Given the description of an element on the screen output the (x, y) to click on. 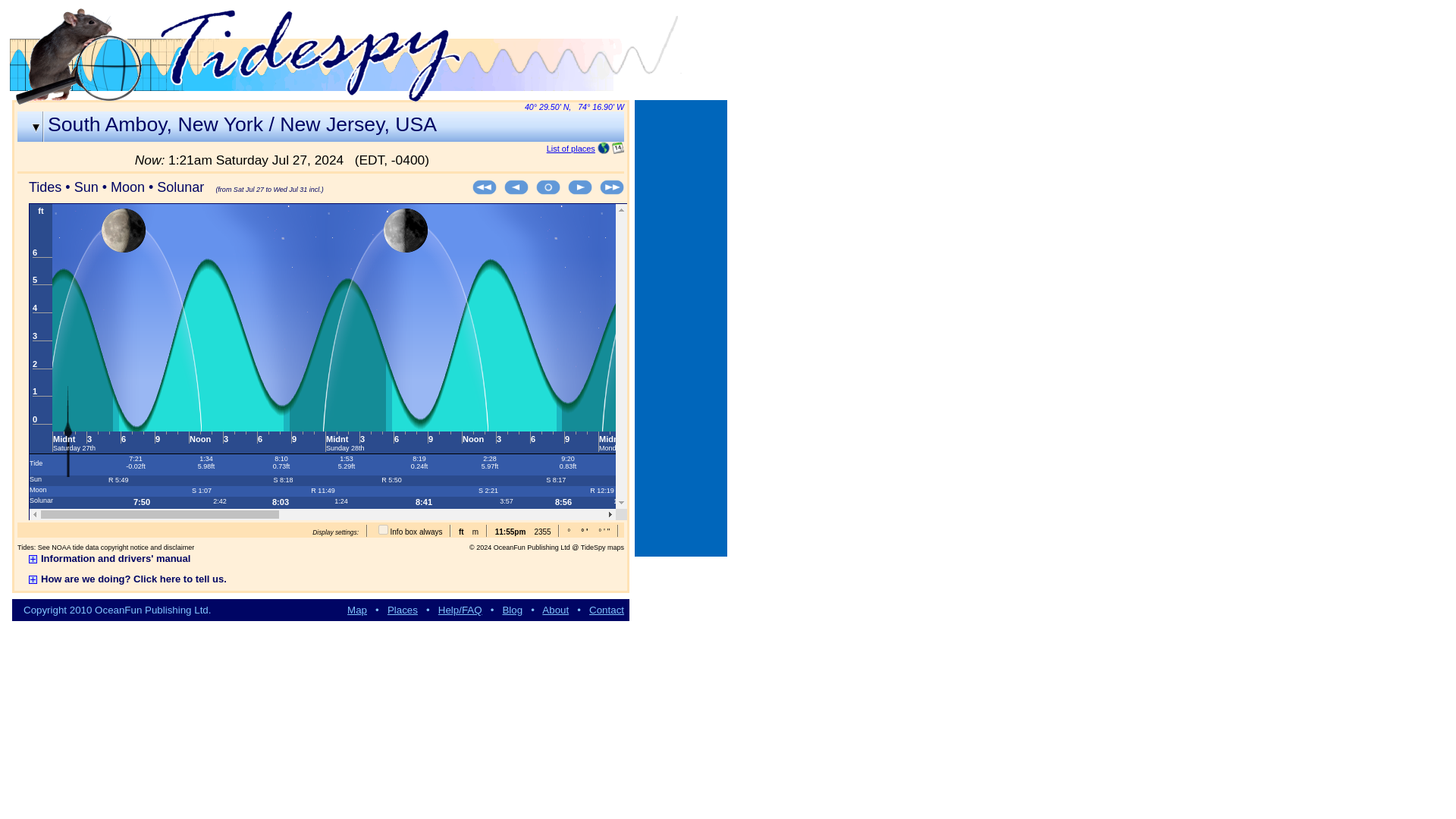
List of places (571, 148)
NOAA tide data copyright notice and disclaimer (121, 547)
Choose a place from the place name index (571, 148)
Eastern Daylight Time (392, 159)
Displays heights in feet. (461, 531)
on (383, 529)
See a tide planner for South Amboy. (617, 148)
Display 12-hour times. (510, 531)
m (475, 531)
2355 (542, 531)
Go forward one day (579, 191)
Go back one day (515, 191)
Choose a place from a map for this area. (603, 148)
Displays heights in metres. (475, 531)
